Given the description of an element on the screen output the (x, y) to click on. 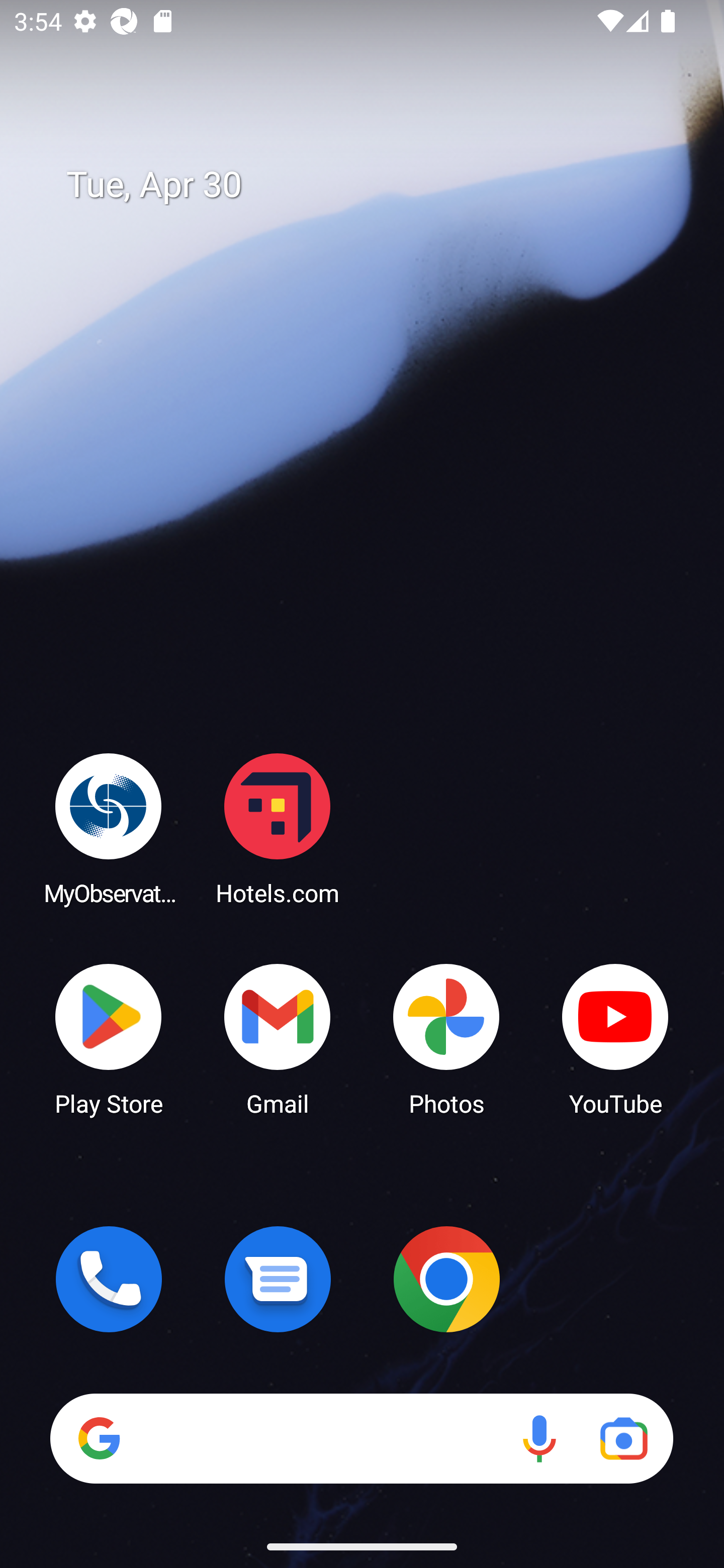
Tue, Apr 30 (375, 184)
MyObservatory (108, 828)
Hotels.com (277, 828)
Play Store (108, 1038)
Gmail (277, 1038)
Photos (445, 1038)
YouTube (615, 1038)
Phone (108, 1279)
Messages (277, 1279)
Chrome (446, 1279)
Voice search (539, 1438)
Google Lens (623, 1438)
